Given the description of an element on the screen output the (x, y) to click on. 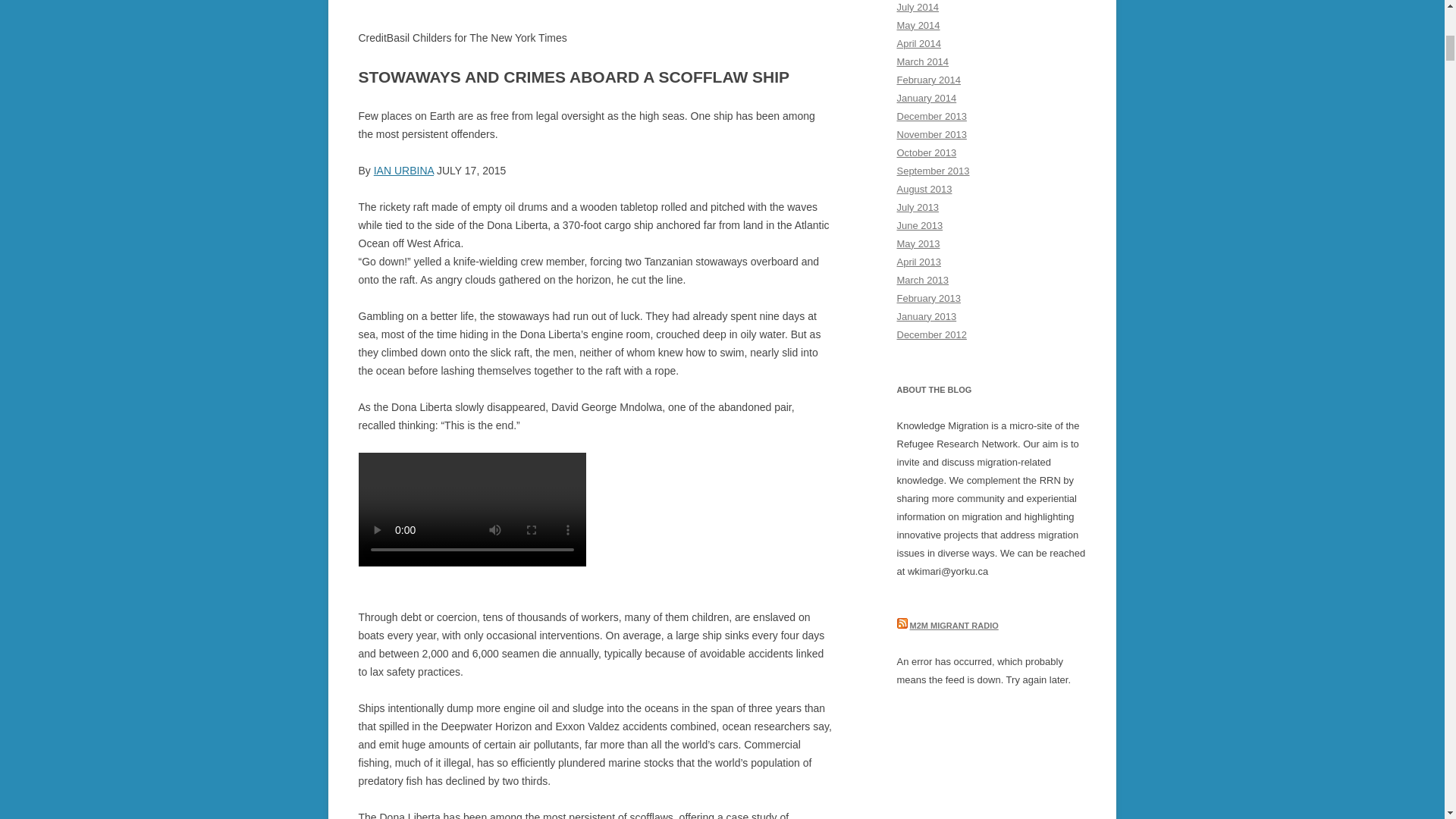
More Articles by IAN URBINA (403, 170)
IAN URBINA (403, 170)
